Given the description of an element on the screen output the (x, y) to click on. 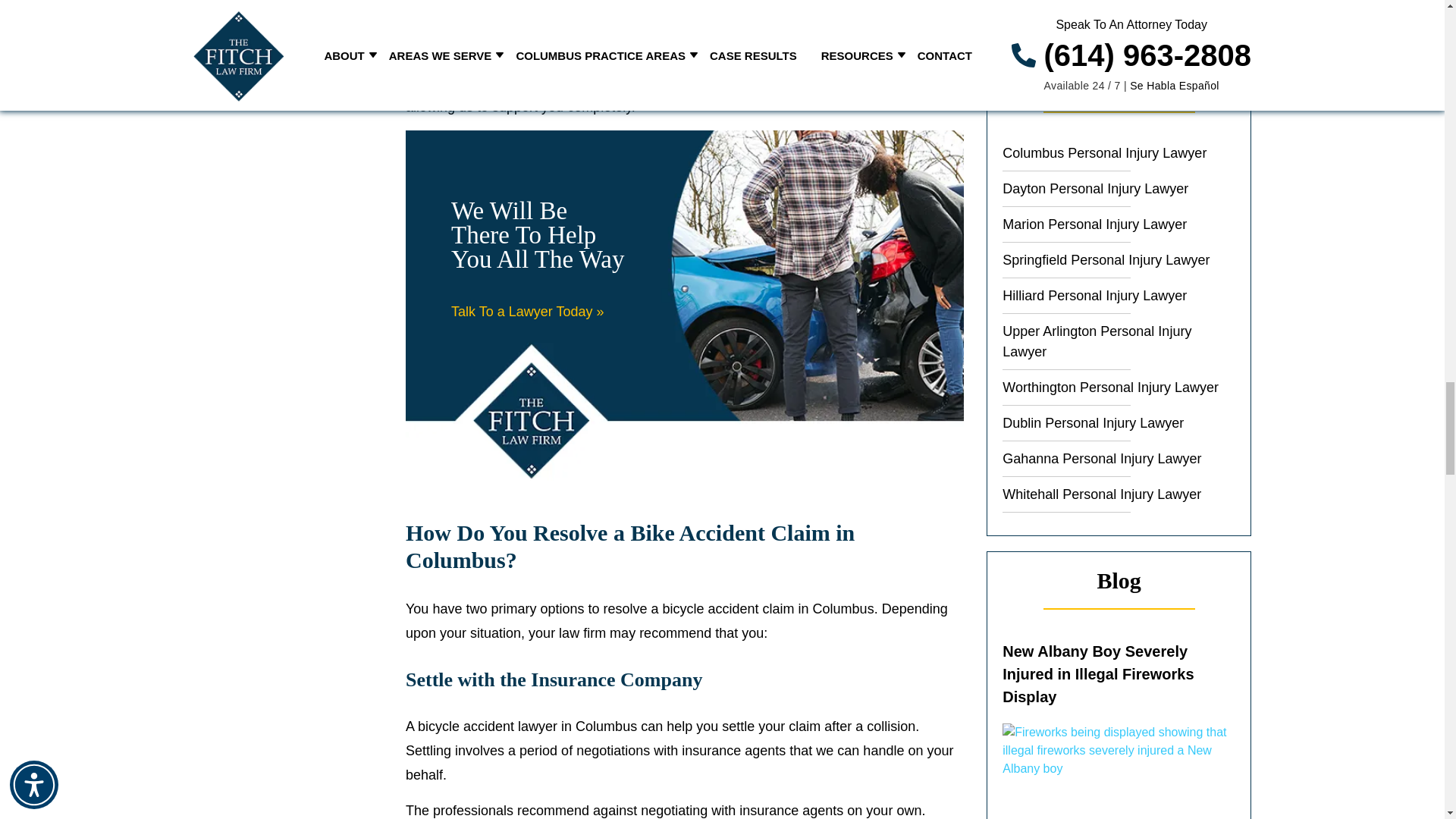
New Albany Boy Severely Injured in Illegal Fireworks Display (1118, 771)
